Given the description of an element on the screen output the (x, y) to click on. 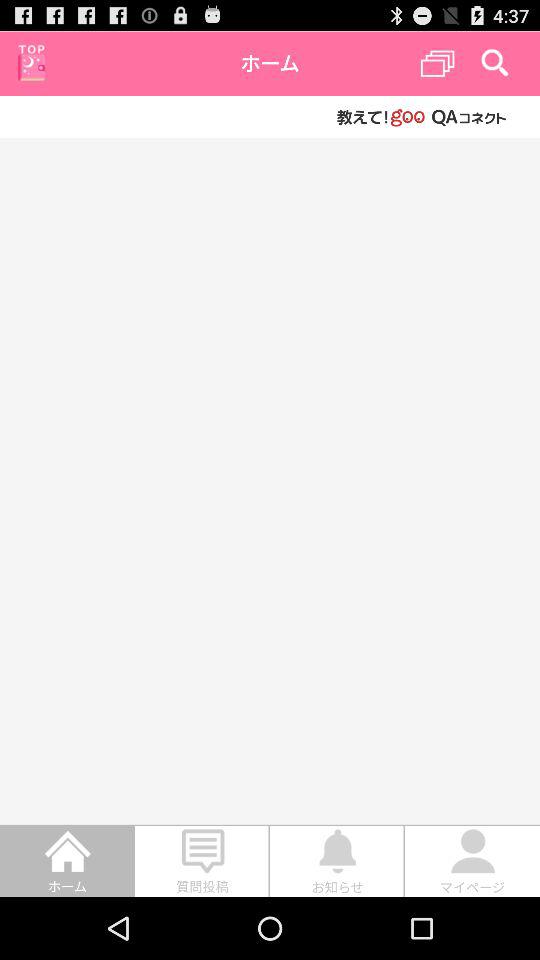
turn on item at the center (270, 480)
